Given the description of an element on the screen output the (x, y) to click on. 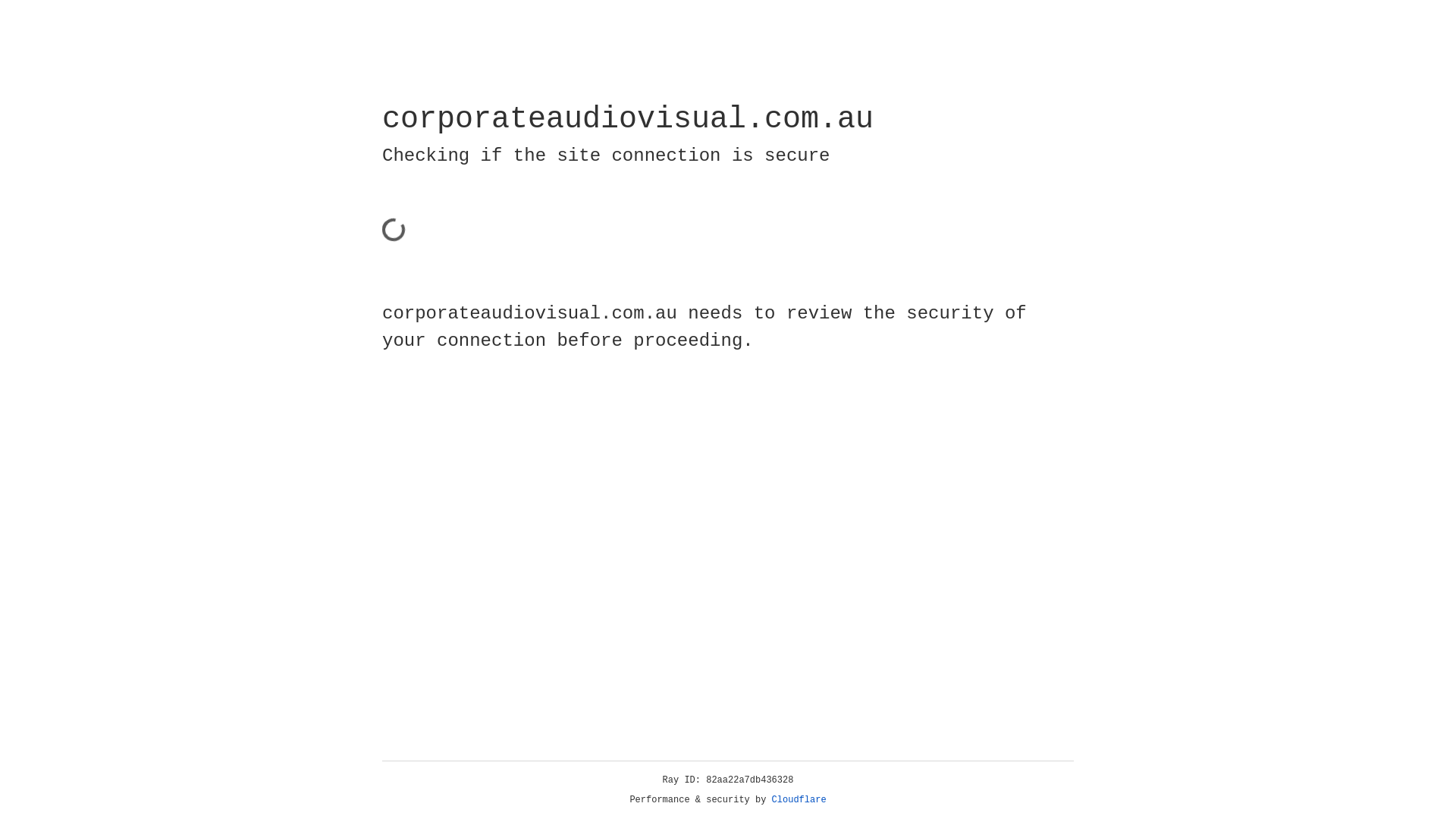
Cloudflare Element type: text (798, 799)
